Given the description of an element on the screen output the (x, y) to click on. 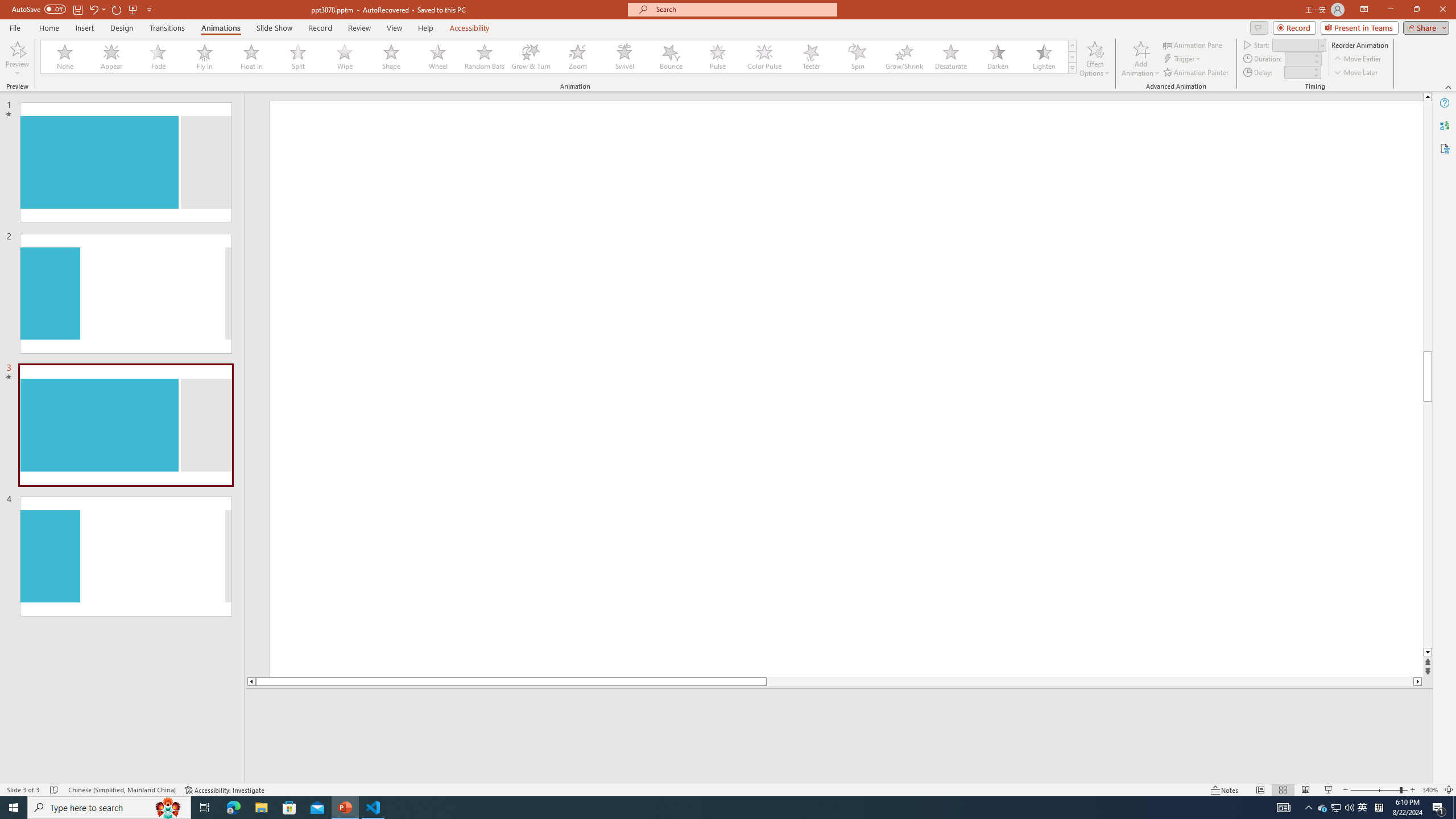
Move Later (1355, 72)
Fade (158, 56)
Color Pulse (764, 56)
Teeter (810, 56)
Animation Painter (1196, 72)
Desaturate (950, 56)
Bounce (670, 56)
